Given the description of an element on the screen output the (x, y) to click on. 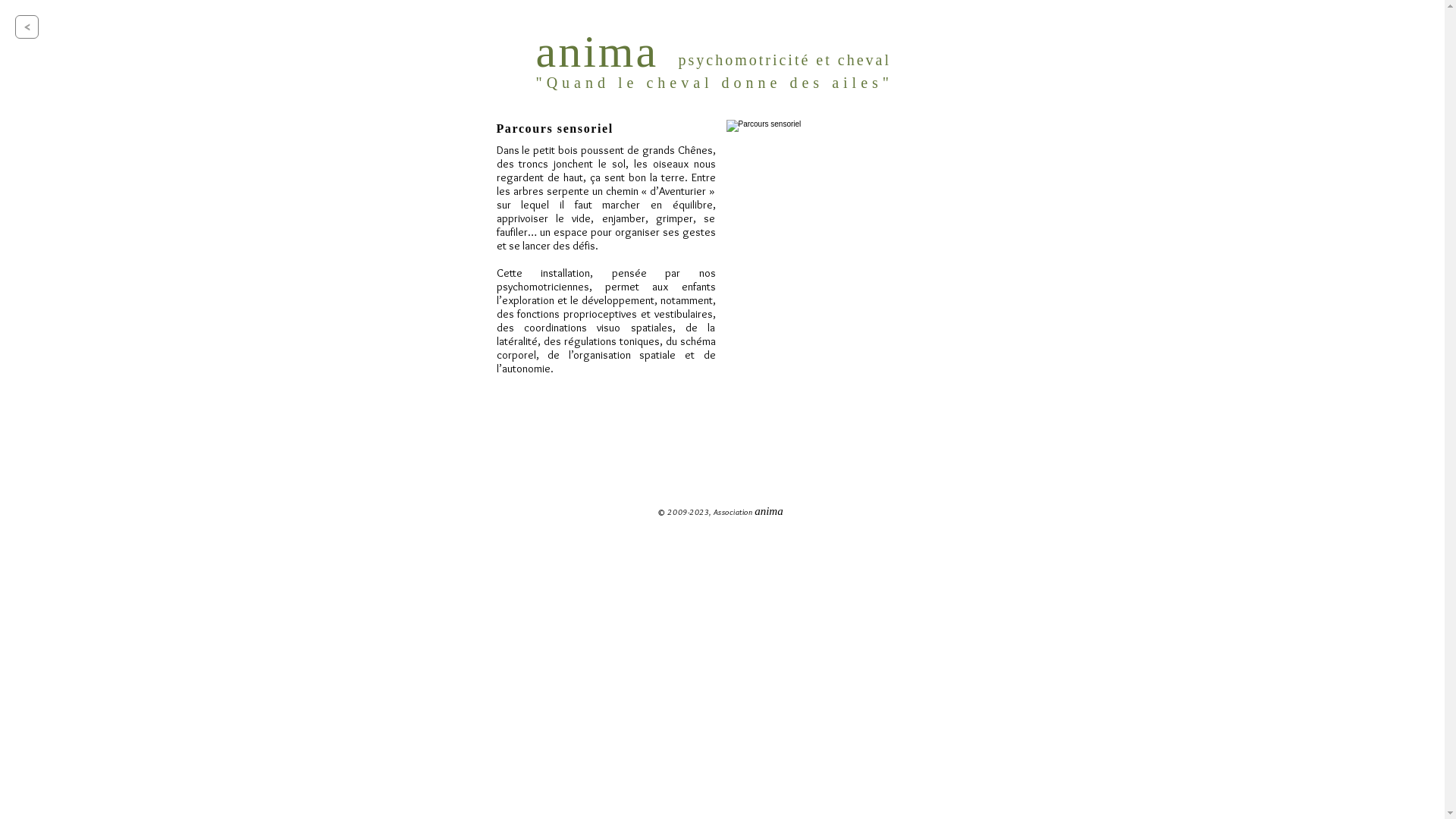
anima Element type: text (596, 51)
< Element type: text (26, 26)
"Quand le cheval donne des ailes" Element type: text (713, 82)
